Given the description of an element on the screen output the (x, y) to click on. 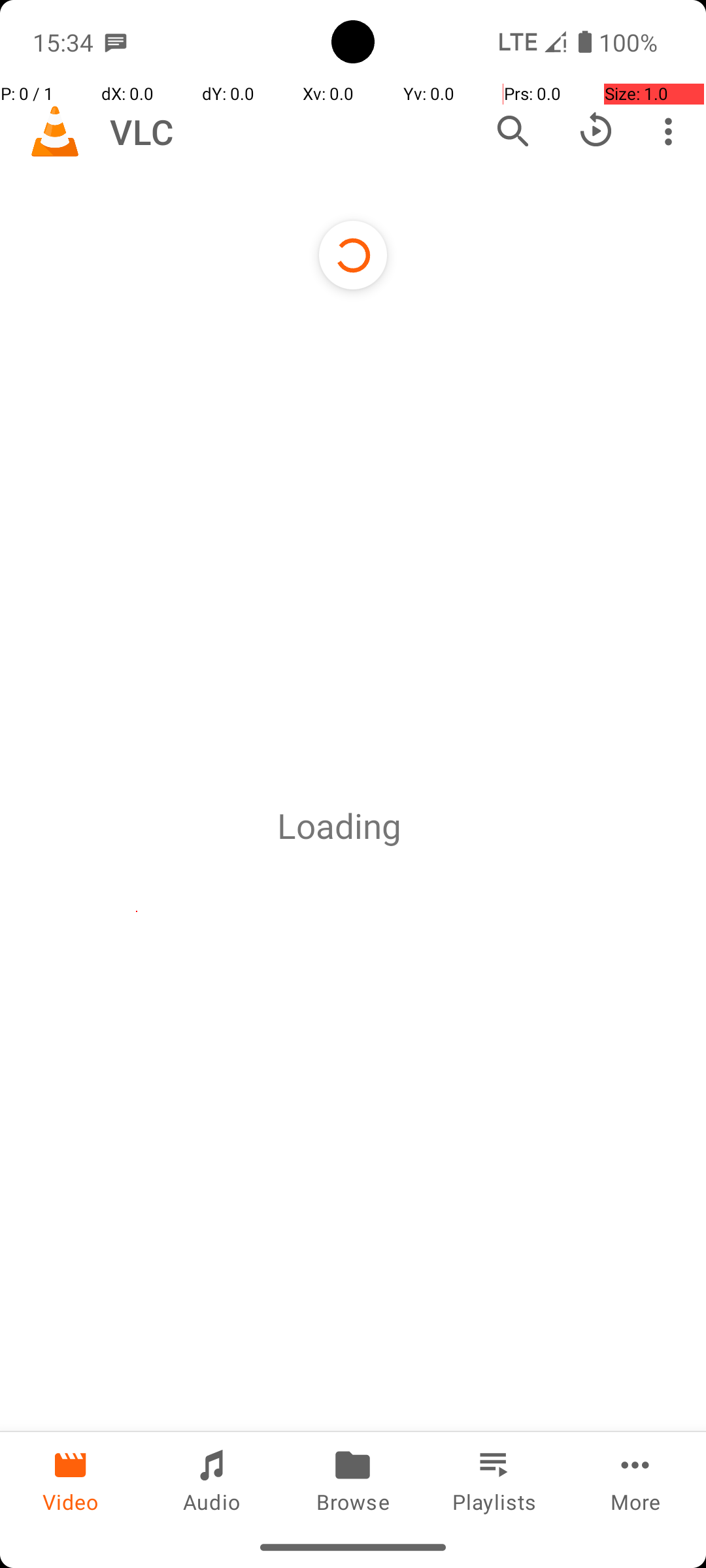
Resume playback Element type: android.widget.TextView (595, 131)
